Given the description of an element on the screen output the (x, y) to click on. 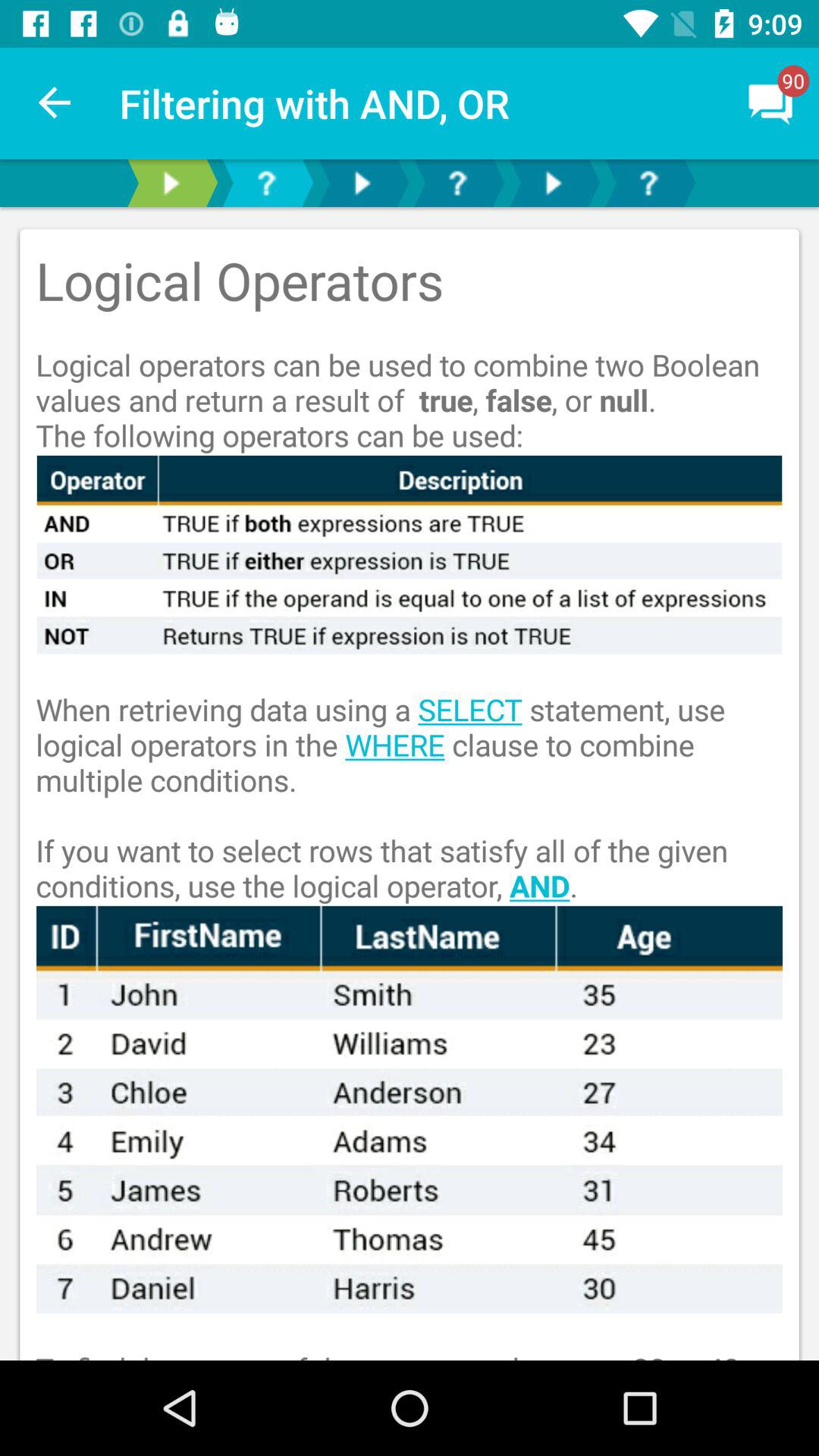
help (648, 183)
